Given the description of an element on the screen output the (x, y) to click on. 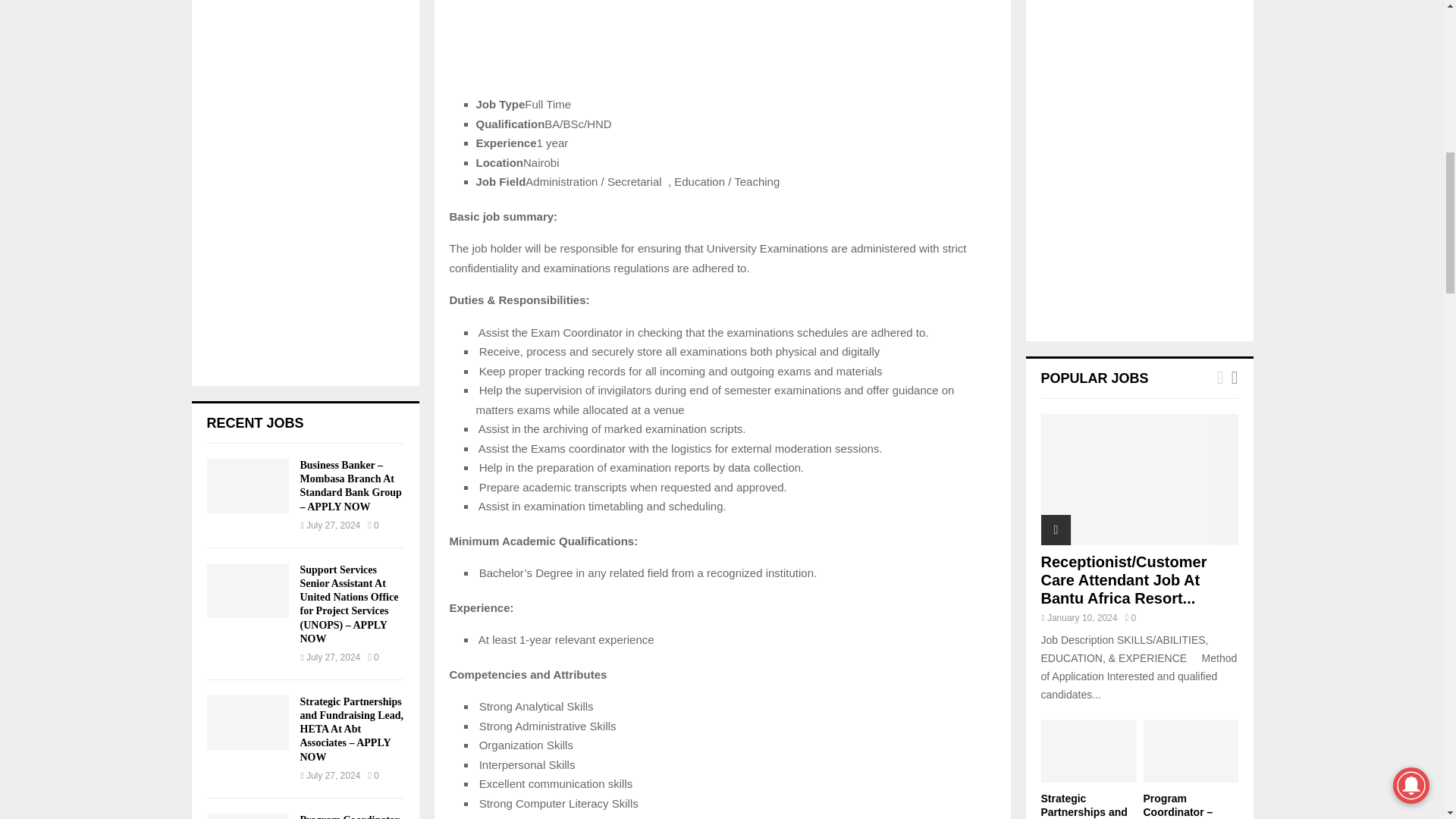
Advertisement (721, 47)
